Given the description of an element on the screen output the (x, y) to click on. 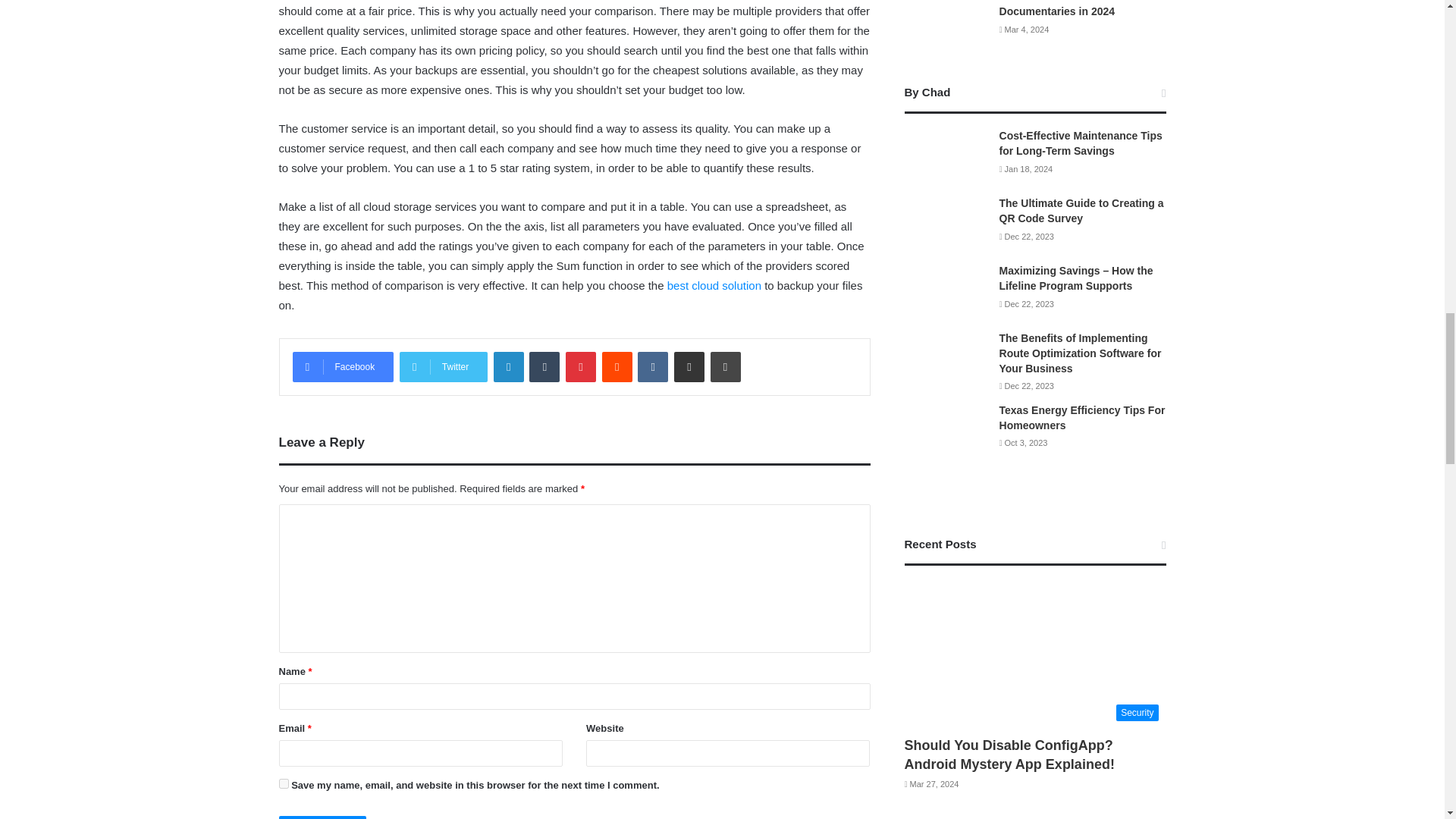
Tumblr (544, 367)
Share via Email (689, 367)
Print (725, 367)
Twitter (442, 367)
VKontakte (652, 367)
Facebook (343, 367)
Tumblr (544, 367)
Reddit (616, 367)
yes (283, 783)
Facebook (343, 367)
Twitter (442, 367)
LinkedIn (508, 367)
Reddit (616, 367)
LinkedIn (508, 367)
Post Comment (322, 817)
